Given the description of an element on the screen output the (x, y) to click on. 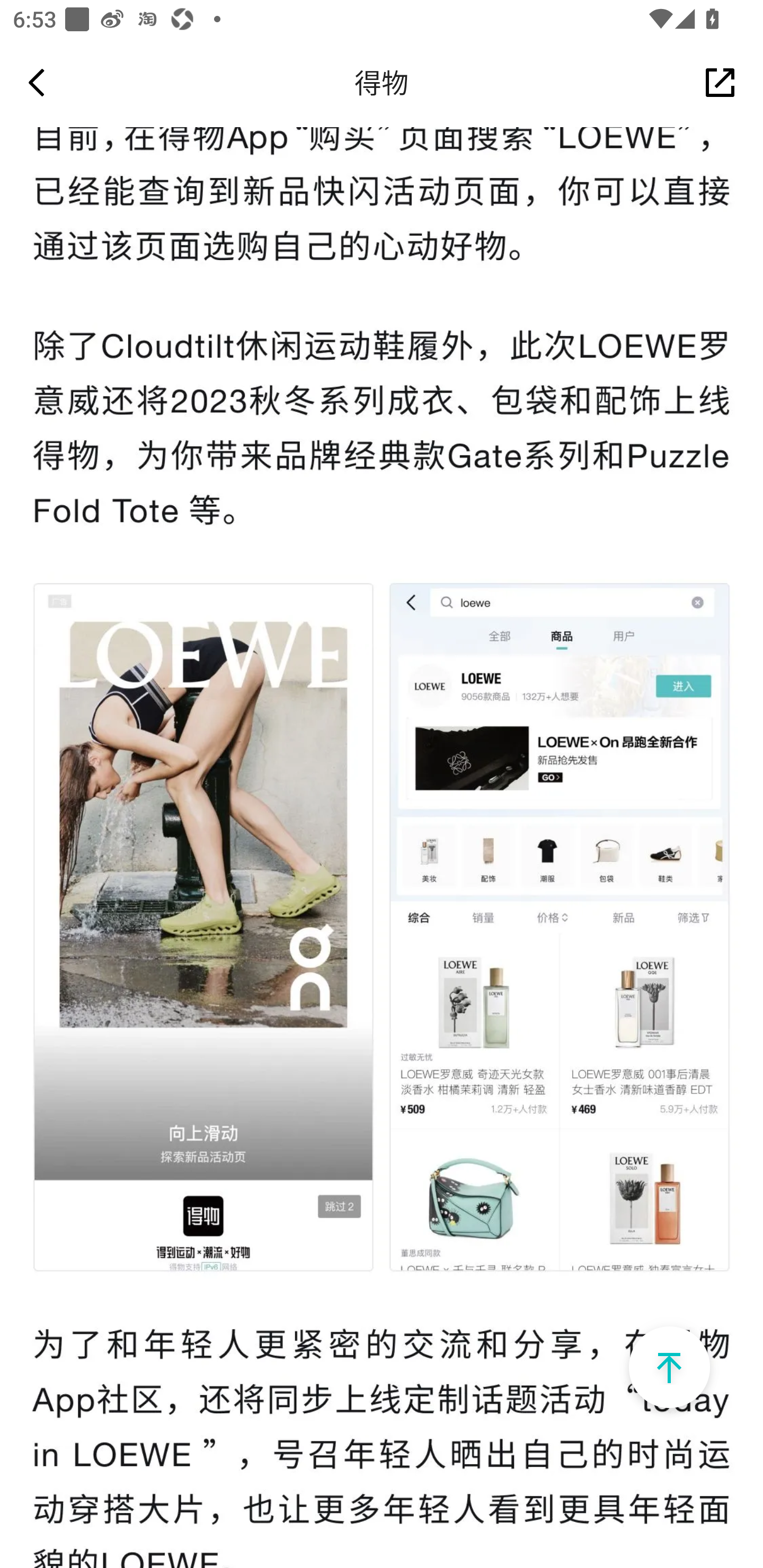
Navigate up (36, 82)
6D55FA48-FAD7-451B-BF60-91C611CA9B14@1x (668, 1367)
